Given the description of an element on the screen output the (x, y) to click on. 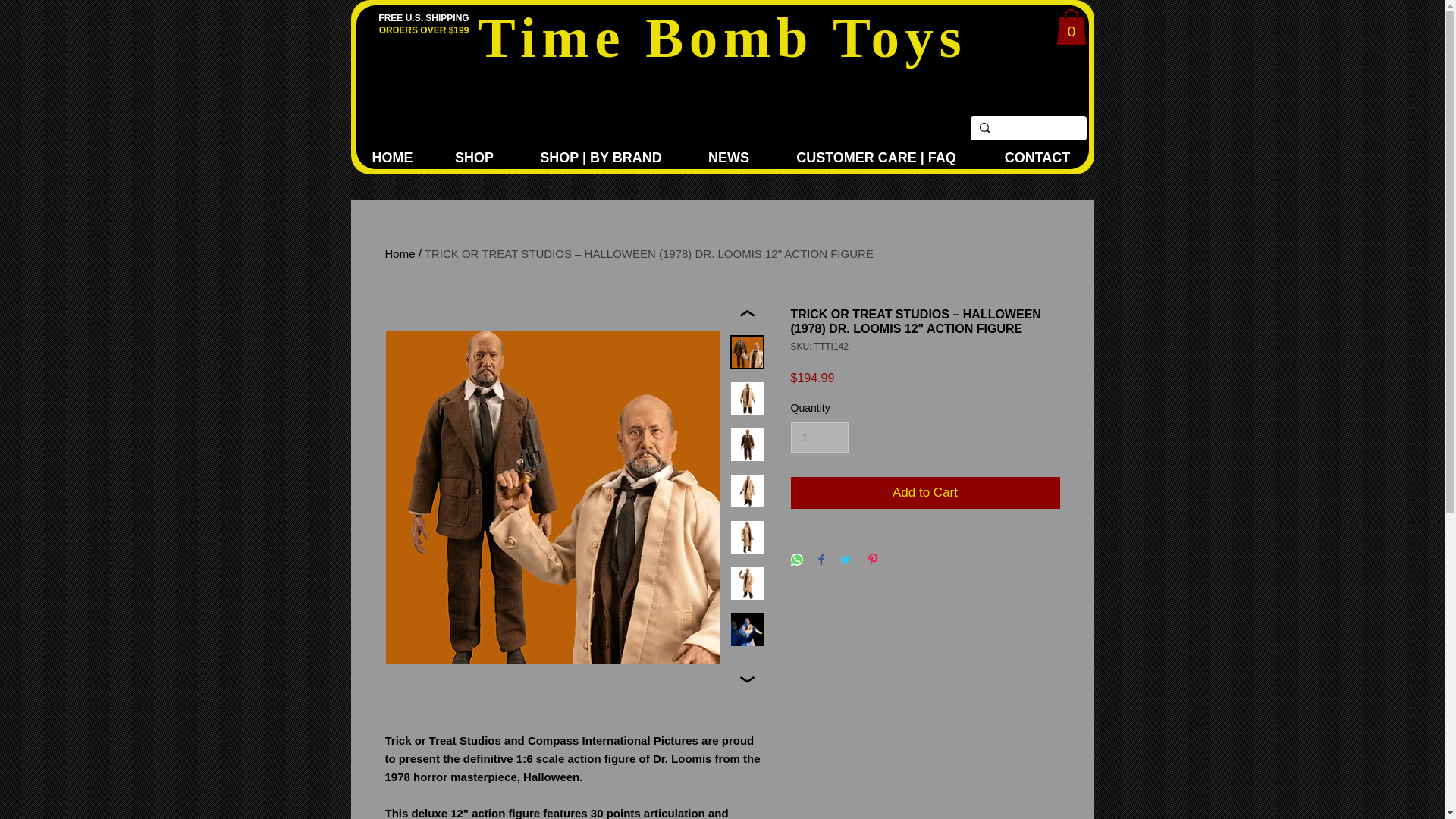
Facebook Like (1056, 104)
HOME (391, 157)
CONTACT (1037, 157)
Home (399, 253)
1 (818, 437)
NEWS (728, 157)
SHOP (473, 157)
